Given the description of an element on the screen output the (x, y) to click on. 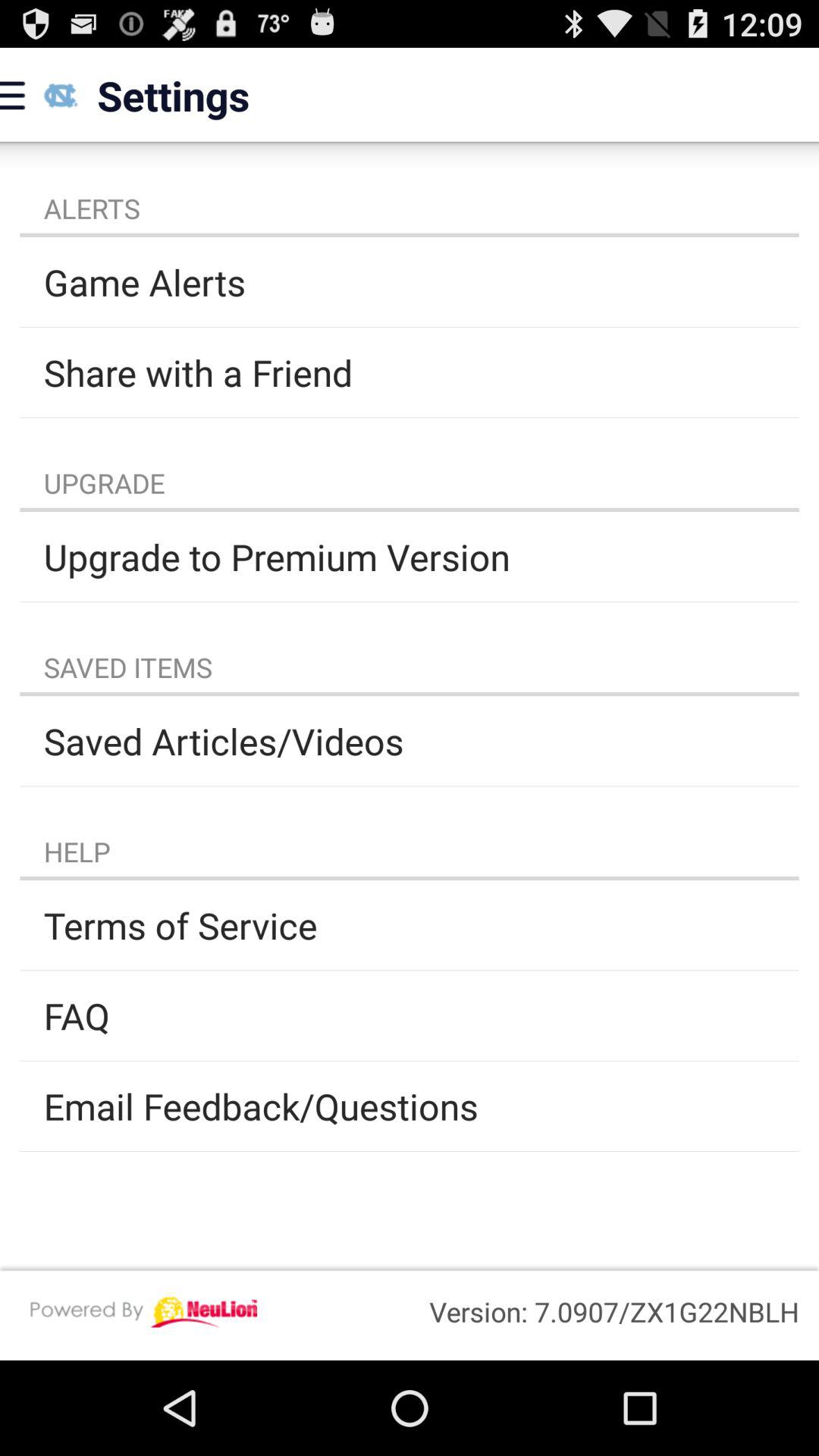
press terms of service app (409, 925)
